Given the description of an element on the screen output the (x, y) to click on. 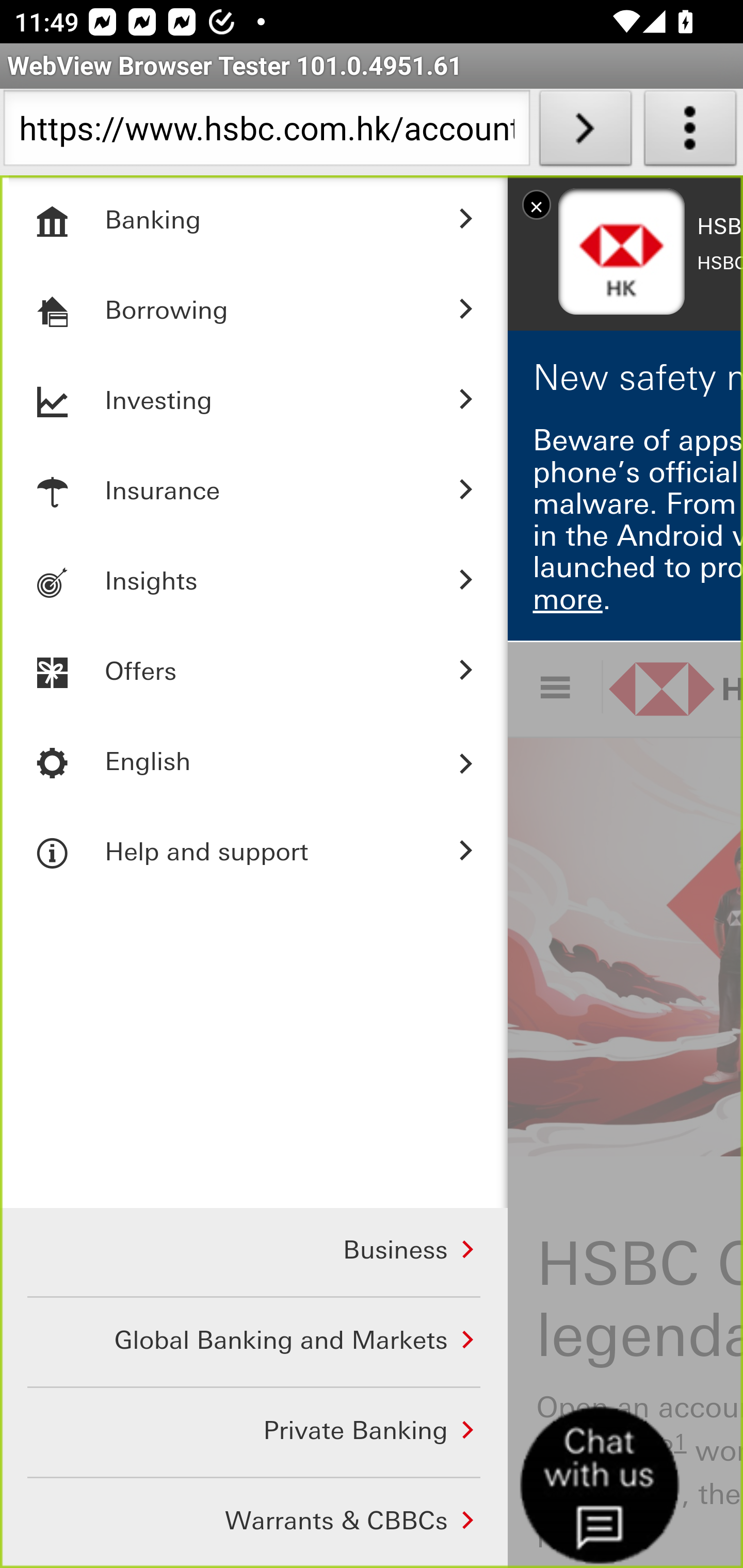
Load URL (585, 132)
About WebView (690, 132)
Banking (254, 220)
X (536, 204)
Borrowing (254, 310)
Investing (254, 400)
Insurance (254, 491)
Insights (254, 582)
Offers (254, 671)
List of languages (254, 762)
Help and support (254, 852)
Business  (254, 1252)
Global Banking and Markets  (254, 1343)
Private Banking  (254, 1434)
Warrants & CBBCs  (254, 1523)
